Given the description of an element on the screen output the (x, y) to click on. 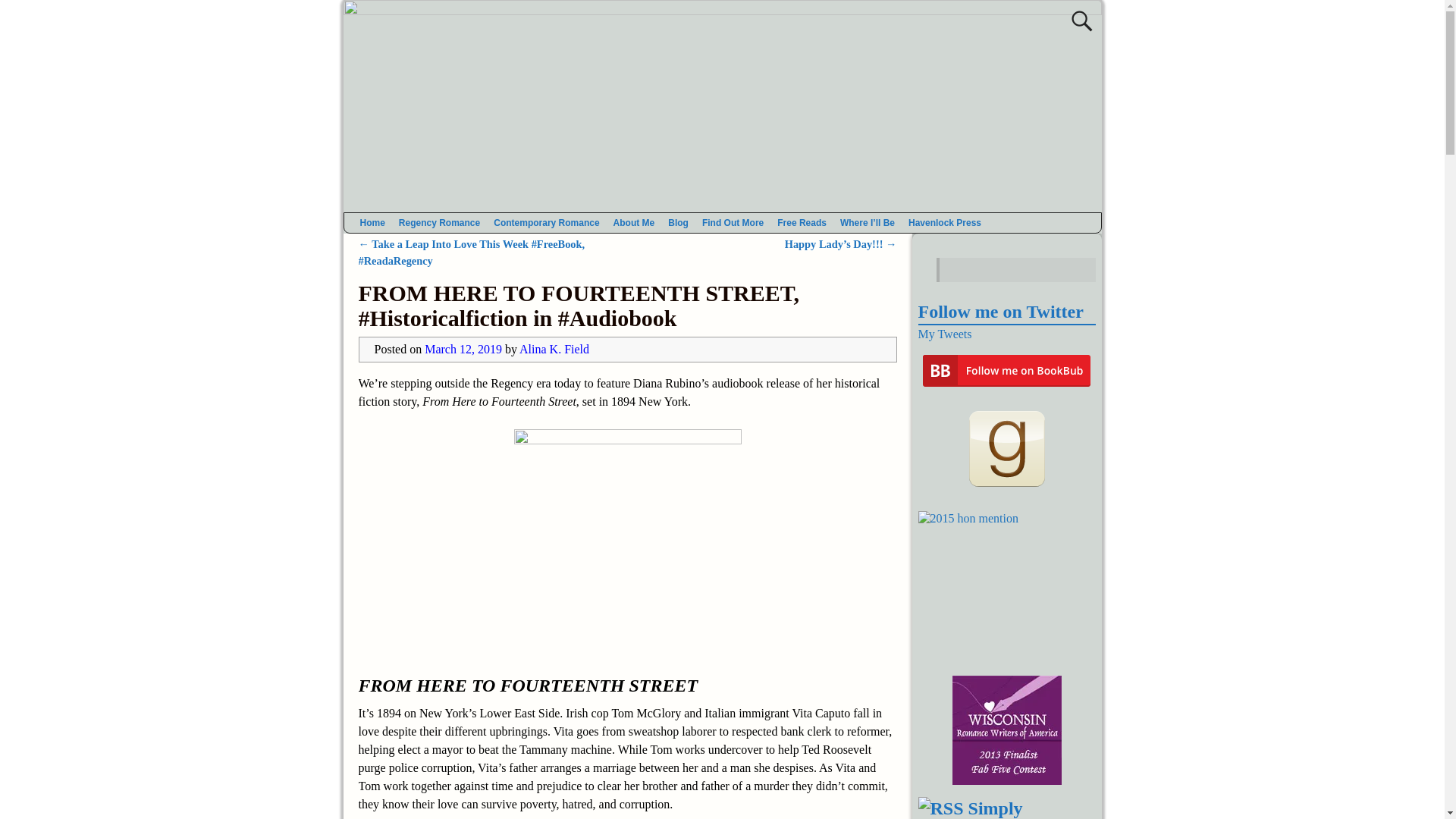
March 12, 2019 (463, 349)
Home (372, 222)
Free Reads (801, 222)
Regency Romance (438, 222)
Havenlock Press (944, 222)
1:00 am (463, 349)
Blog (678, 222)
View all posts by Alina K. Field (554, 349)
Alina K. Field (554, 349)
Contemporary Romance (545, 222)
About Me (634, 222)
Find Out More (732, 222)
